Given the description of an element on the screen output the (x, y) to click on. 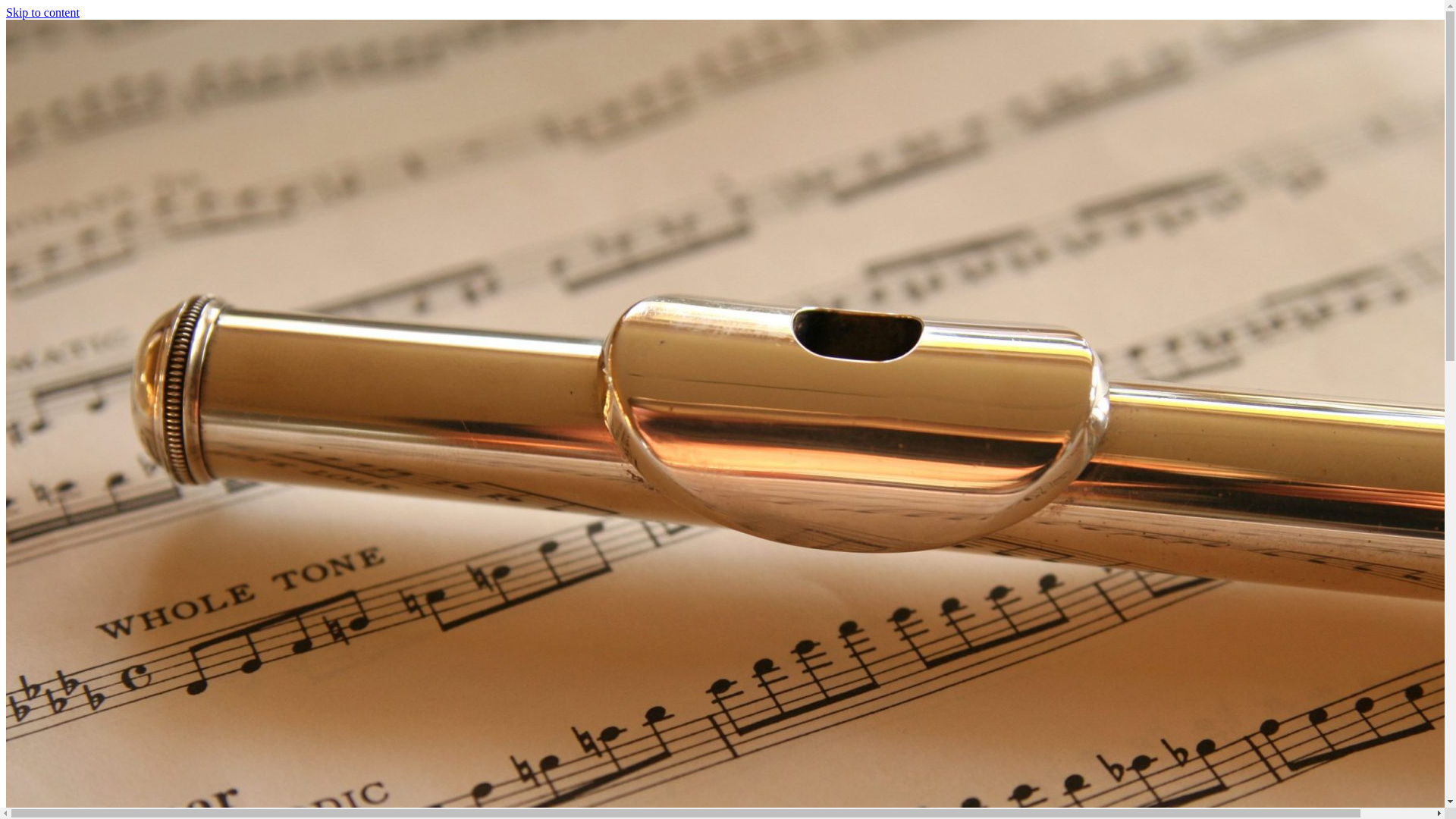
Skip to content Element type: text (42, 12)
